Given the description of an element on the screen output the (x, y) to click on. 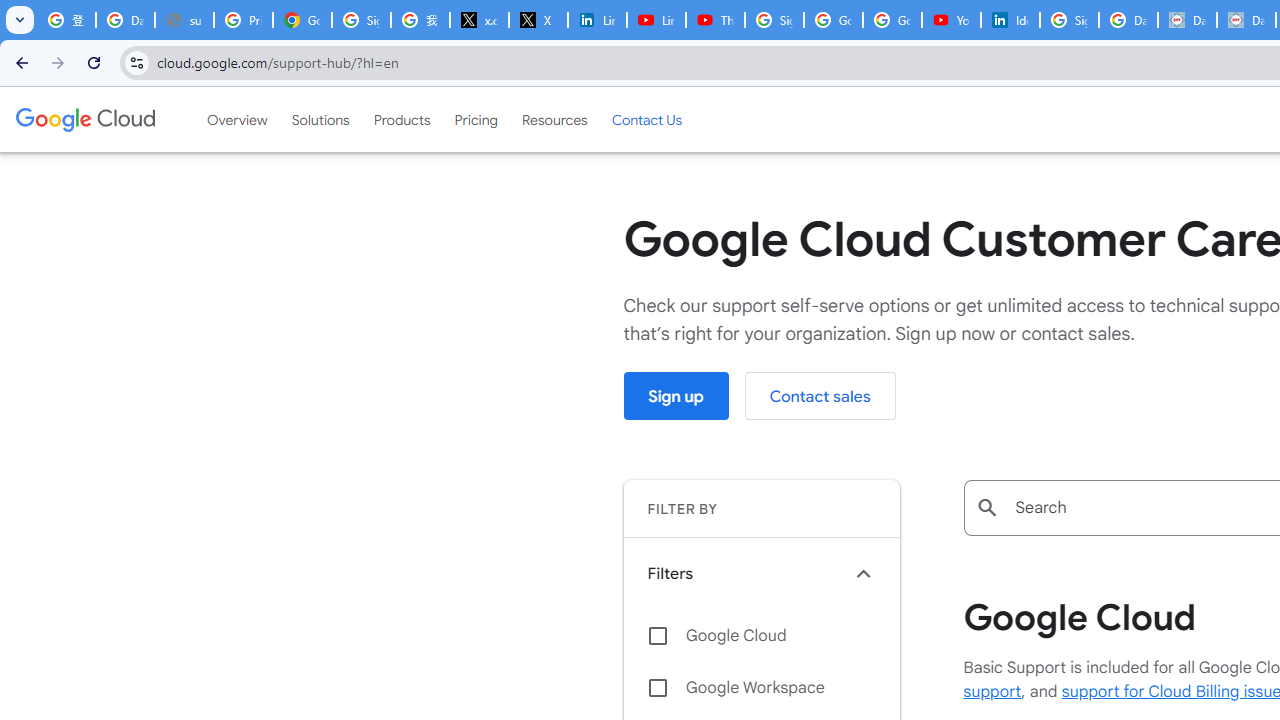
Pricing (476, 119)
Overview (236, 119)
Contact sales (819, 395)
Sign in - Google Accounts (774, 20)
Resources (553, 119)
Google Workspace (761, 687)
